Given the description of an element on the screen output the (x, y) to click on. 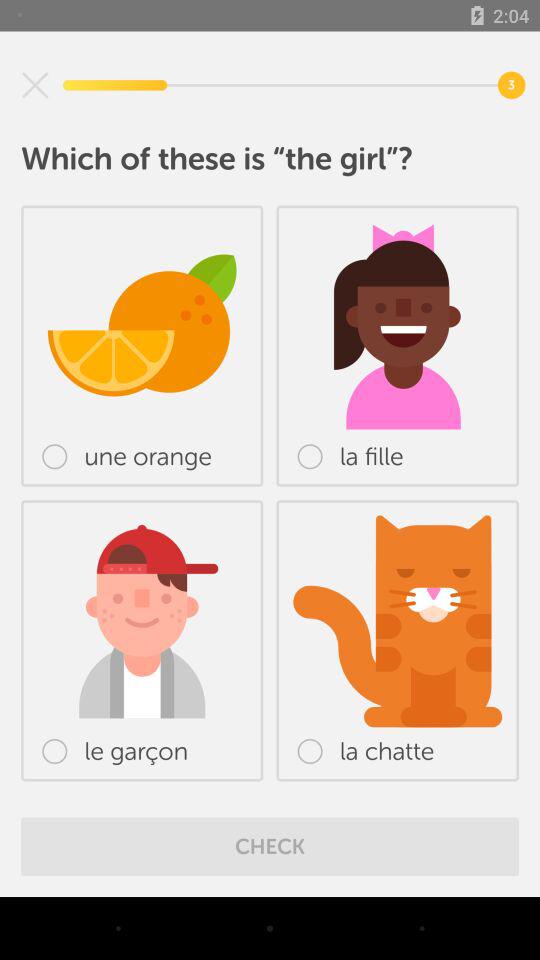
swipe until the check (270, 846)
